Given the description of an element on the screen output the (x, y) to click on. 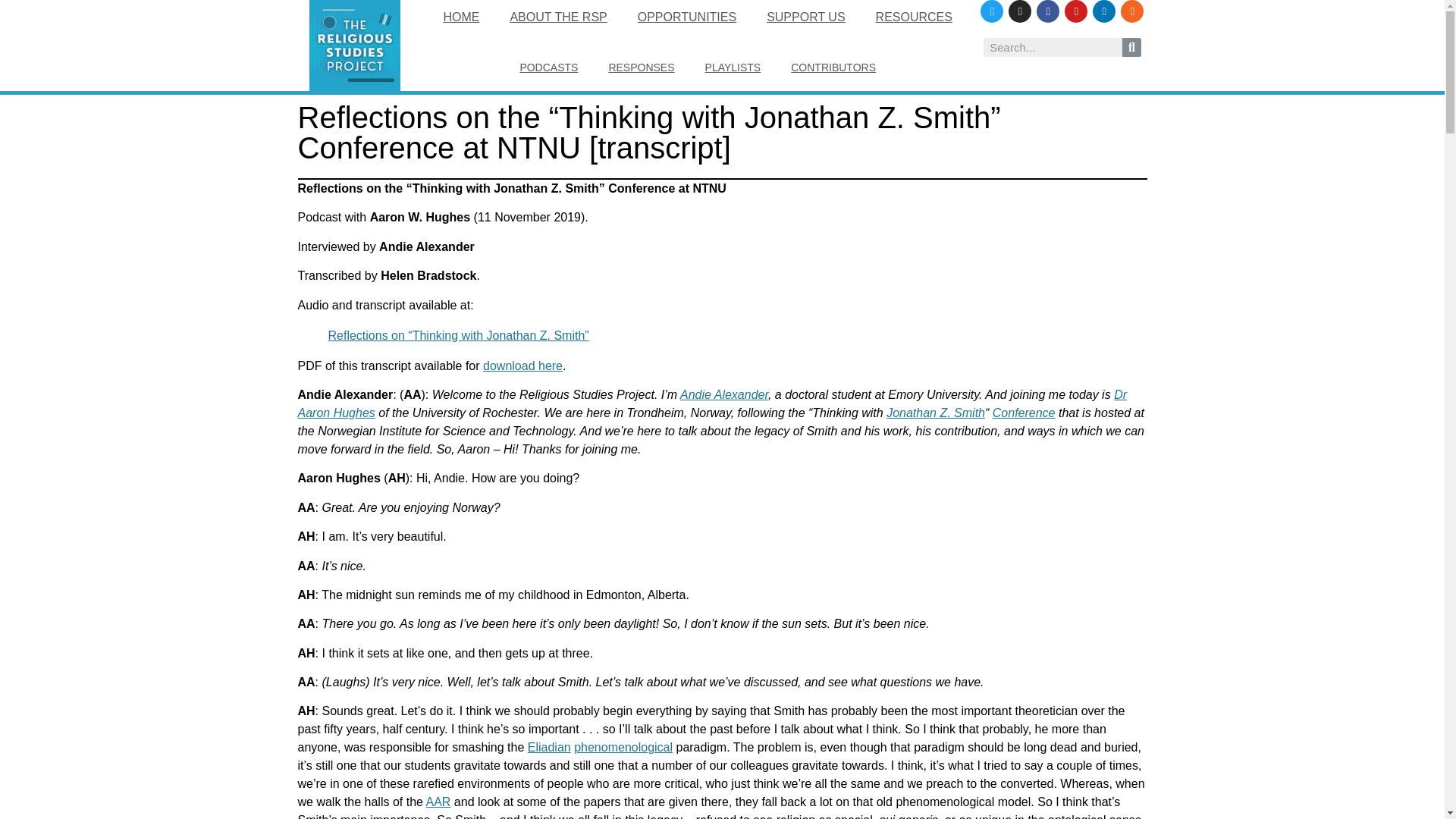
ABOUT THE RSP (558, 17)
PODCASTS (547, 67)
SUPPORT US (805, 17)
HOME (461, 17)
RESPONSES (640, 67)
OPPORTUNITIES (687, 17)
Search (1131, 46)
CONTRIBUTORS (833, 67)
PLAYLISTS (733, 67)
RESOURCES (914, 17)
